Given the description of an element on the screen output the (x, y) to click on. 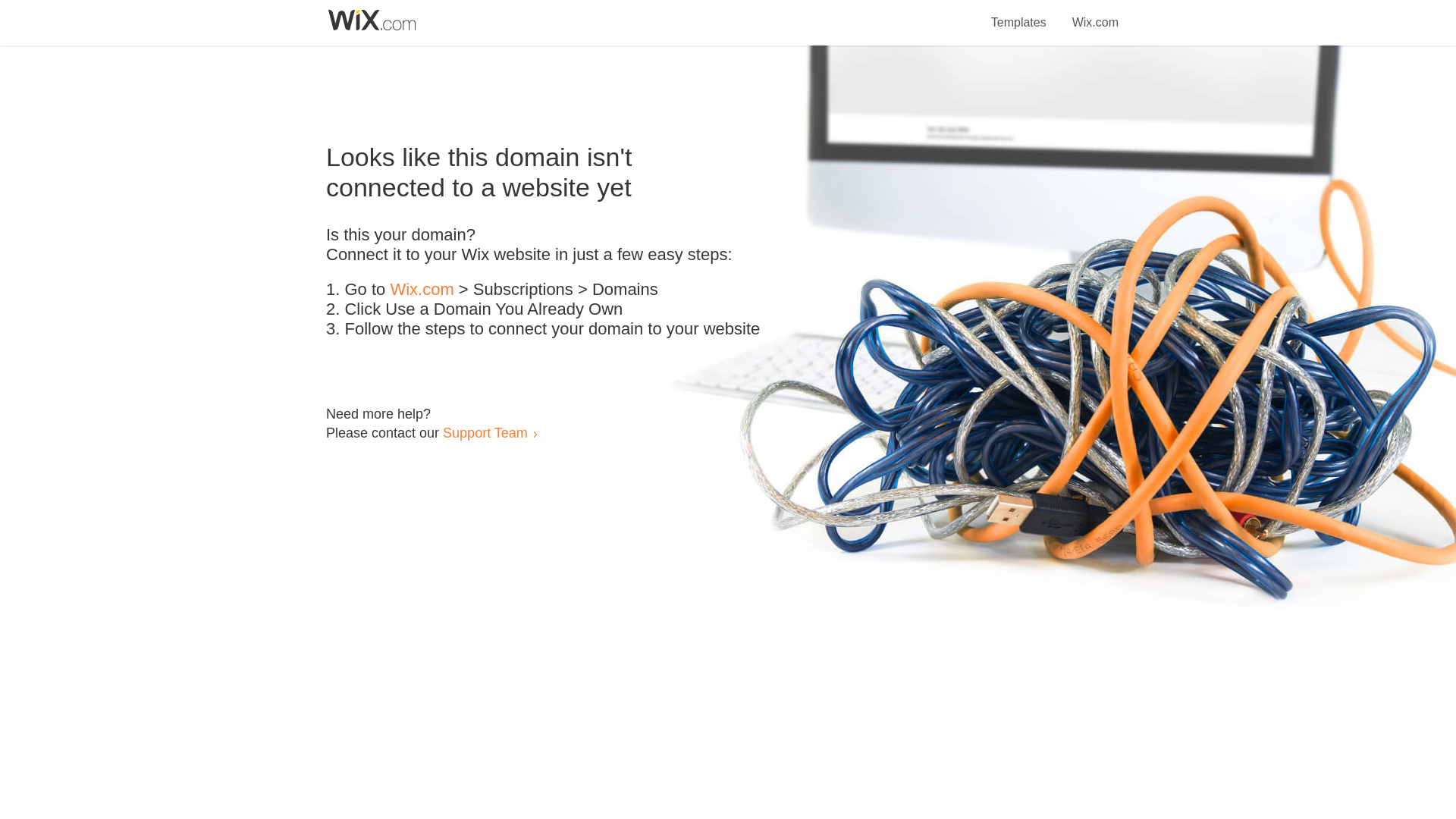
Templates (1018, 14)
Support Team (484, 432)
Wix.com (421, 289)
Wix.com (1095, 14)
